Given the description of an element on the screen output the (x, y) to click on. 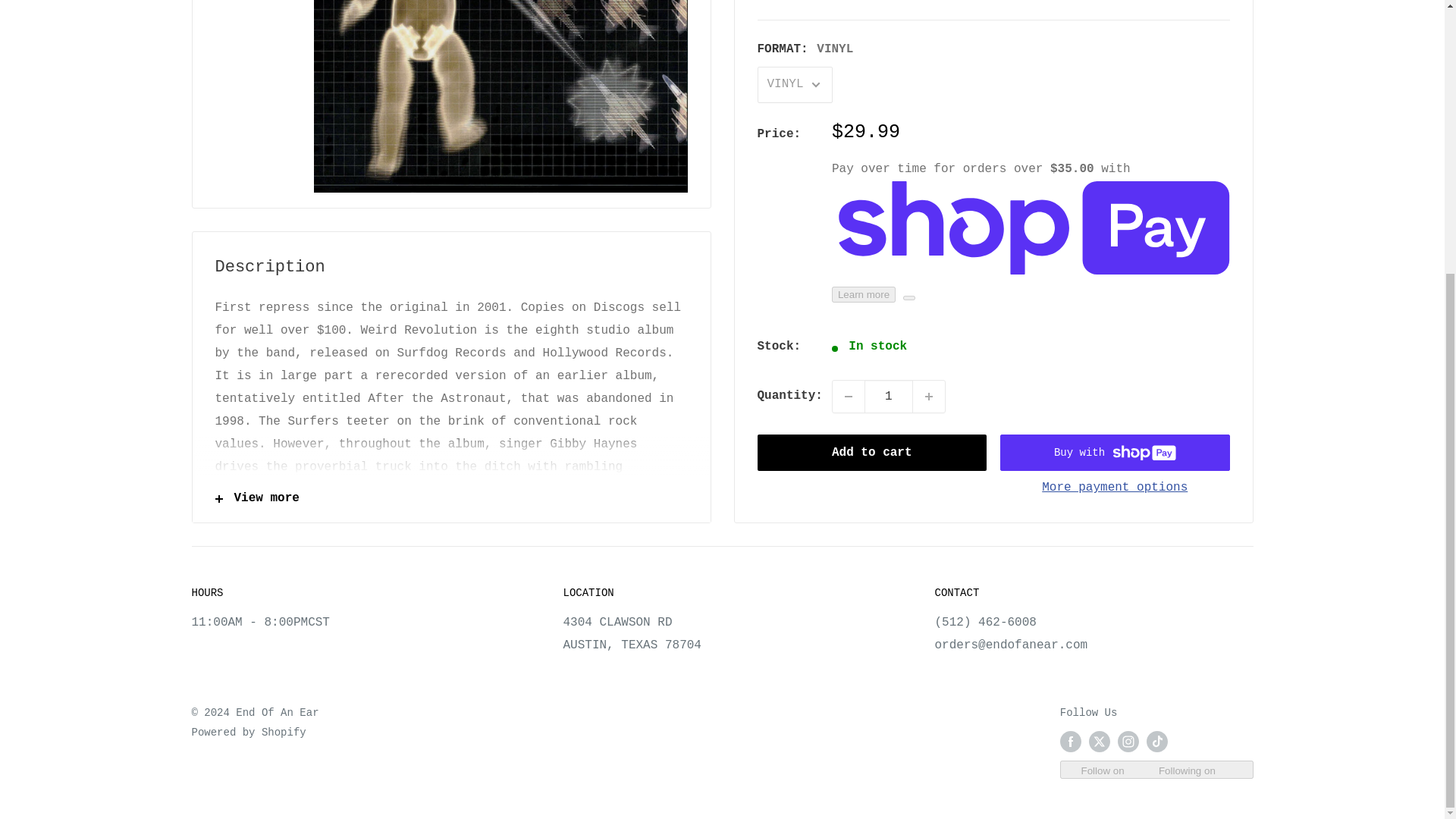
1 (888, 296)
Decrease quantity by 1 (848, 296)
Increase quantity by 1 (928, 296)
